Given the description of an element on the screen output the (x, y) to click on. 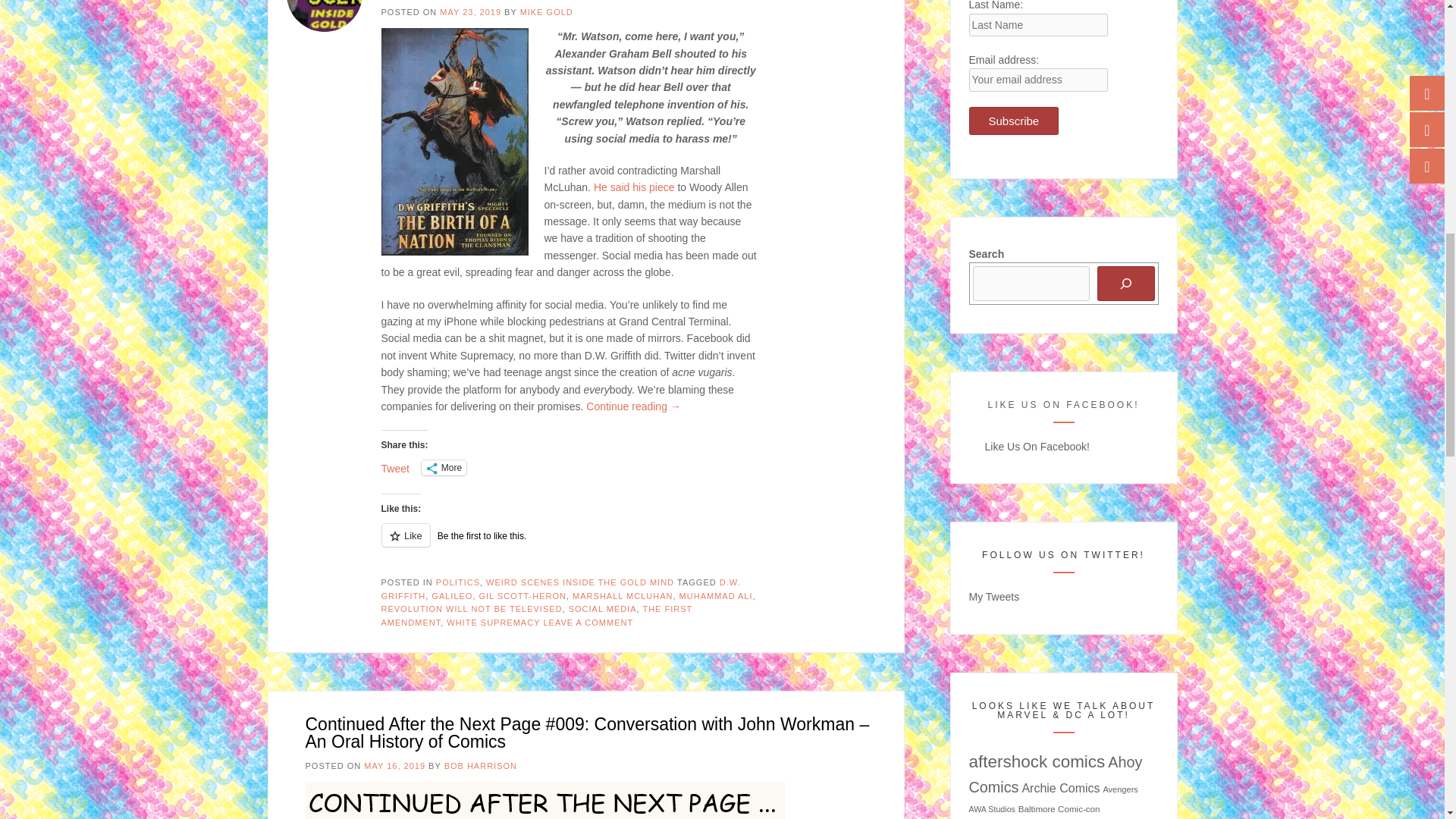
Subscribe (1014, 121)
Like or Reblog (568, 544)
